Given the description of an element on the screen output the (x, y) to click on. 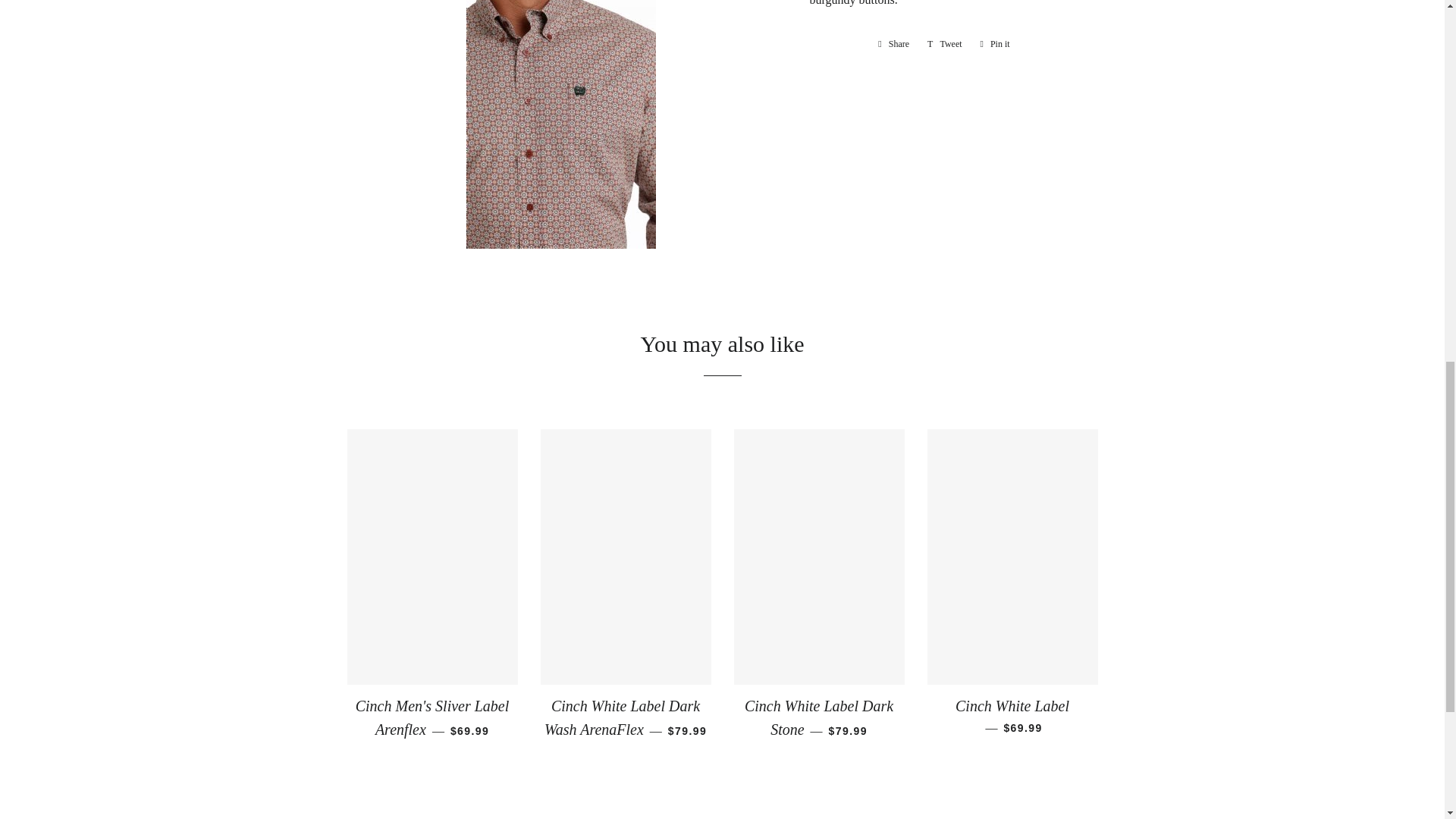
Share on Facebook (893, 44)
Tweet on Twitter (893, 44)
Pin on Pinterest (944, 44)
